Given the description of an element on the screen output the (x, y) to click on. 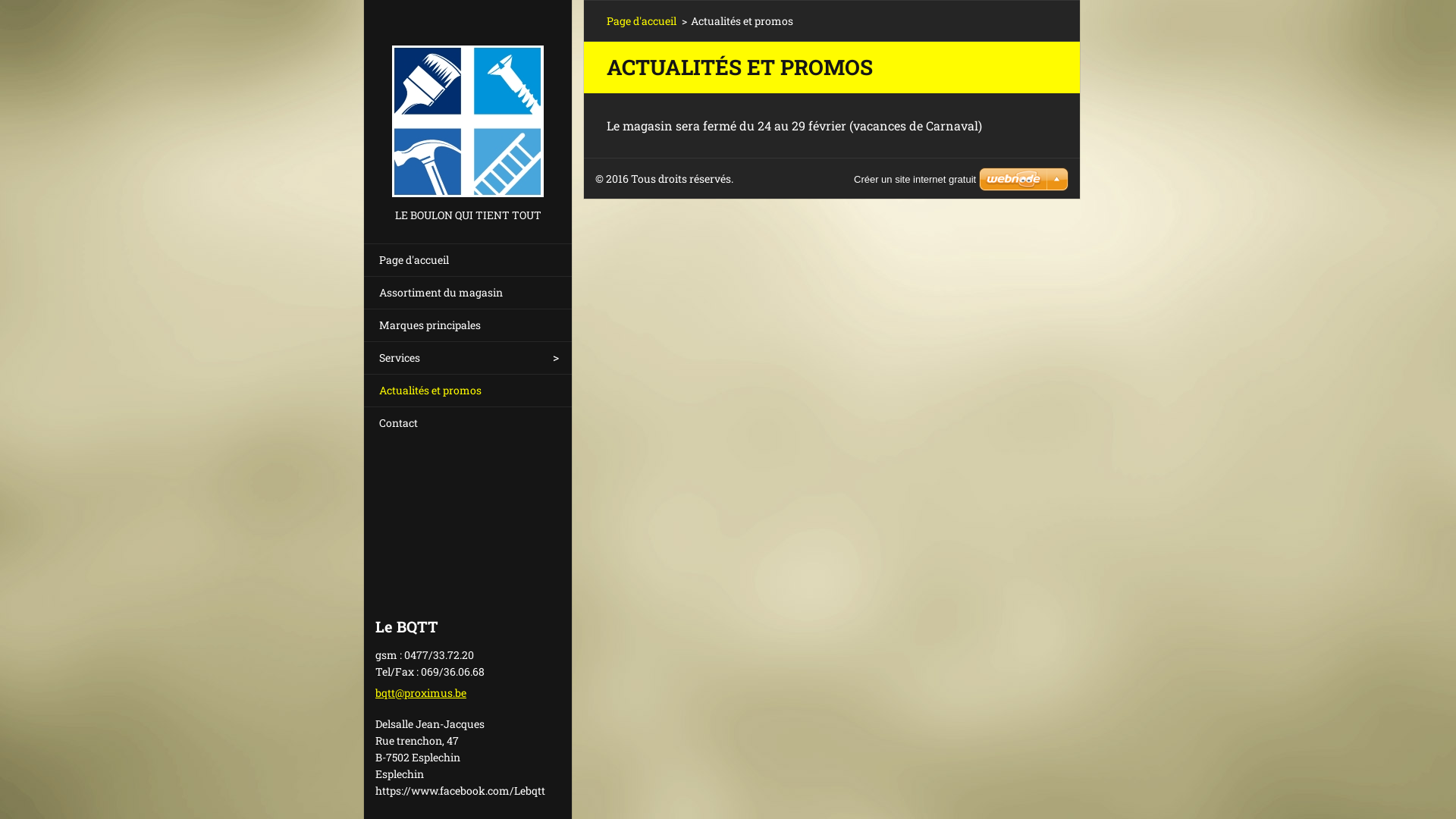
bqtt@proximus.be Element type: text (420, 692)
Services Element type: text (467, 357)
Contact Element type: text (467, 422)
Page d'accueil Element type: text (467, 259)
Marques principales Element type: text (467, 324)
Assortiment du magasin Element type: text (467, 292)
Page d'accueil Element type: text (641, 20)
